Given the description of an element on the screen output the (x, y) to click on. 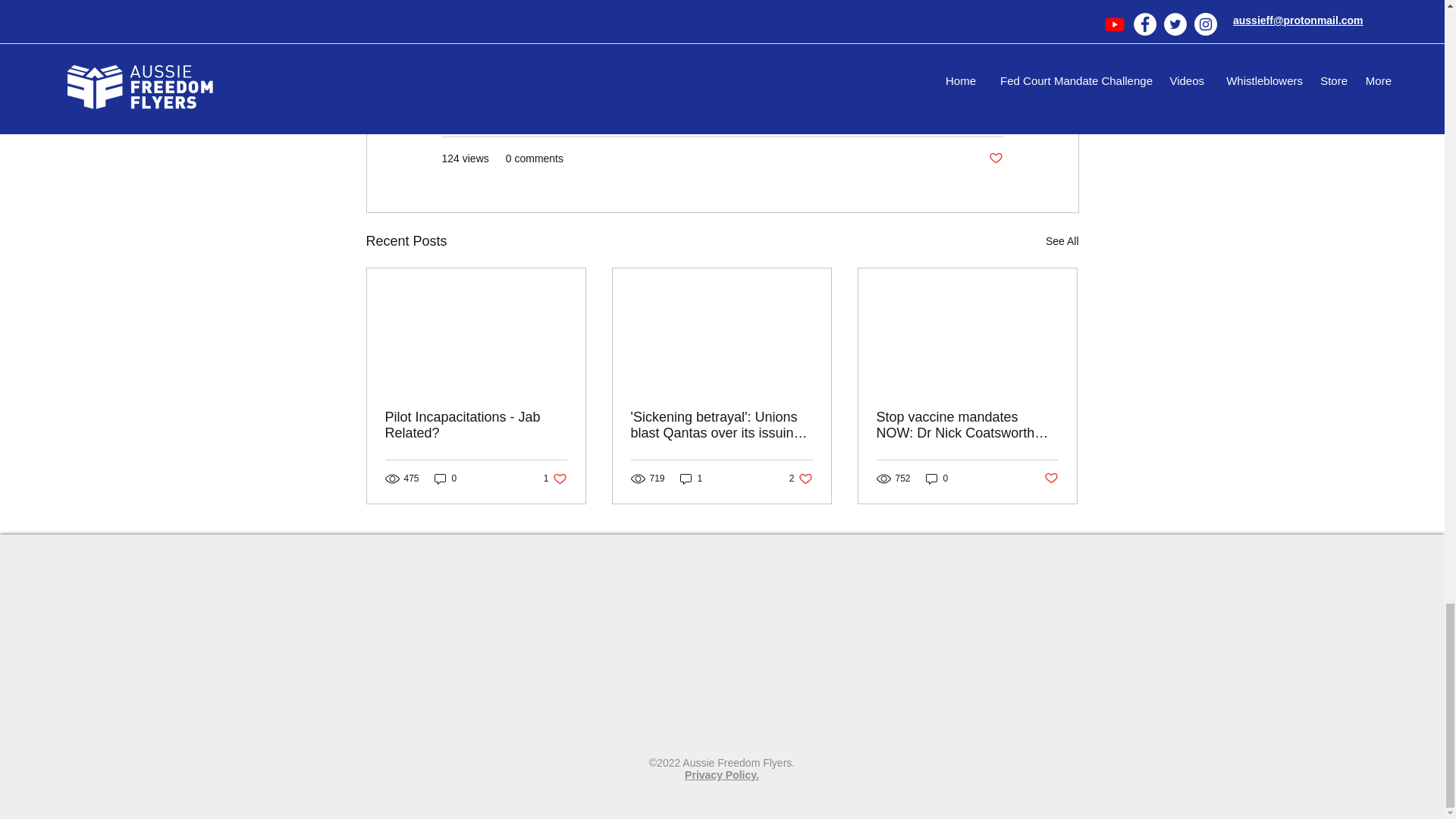
1 (691, 478)
Post not marked as liked (995, 158)
Pilot Incapacitations - Jab Related? (476, 425)
0 (800, 478)
See All (555, 478)
